Given the description of an element on the screen output the (x, y) to click on. 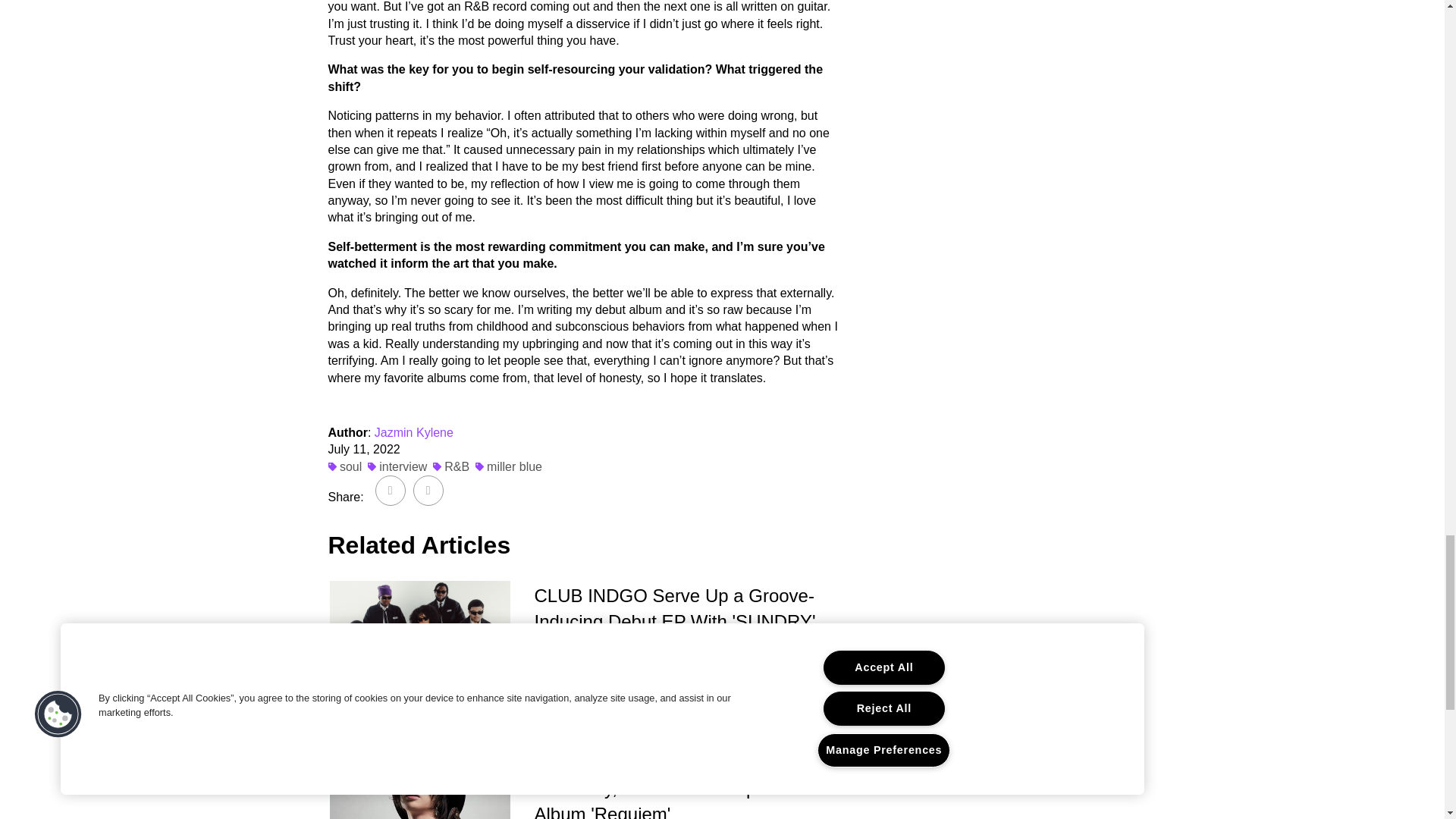
Jazmin Kylene (413, 431)
